Given the description of an element on the screen output the (x, y) to click on. 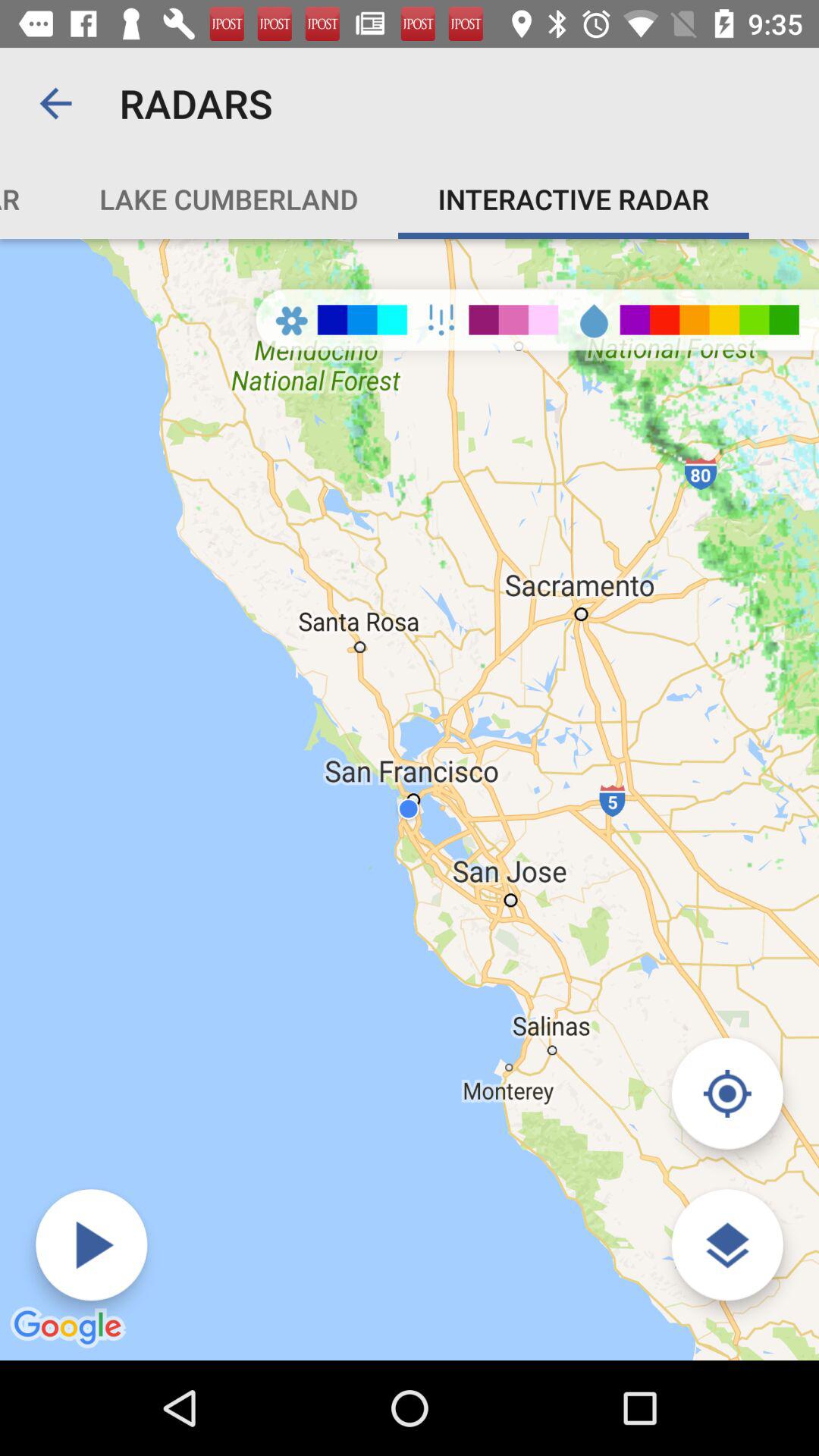
turn on icon to the left of the radars (55, 103)
